Given the description of an element on the screen output the (x, y) to click on. 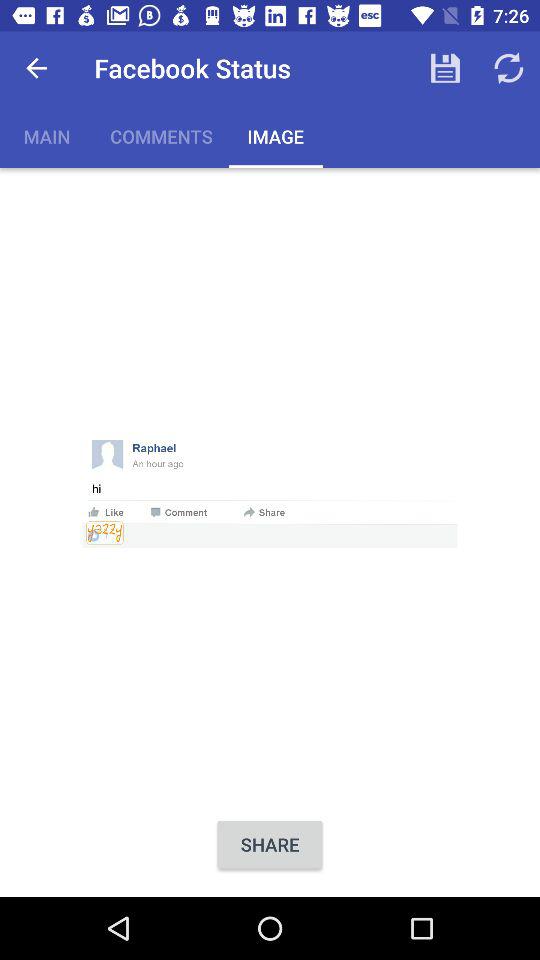
select the share item (269, 844)
